Given the description of an element on the screen output the (x, y) to click on. 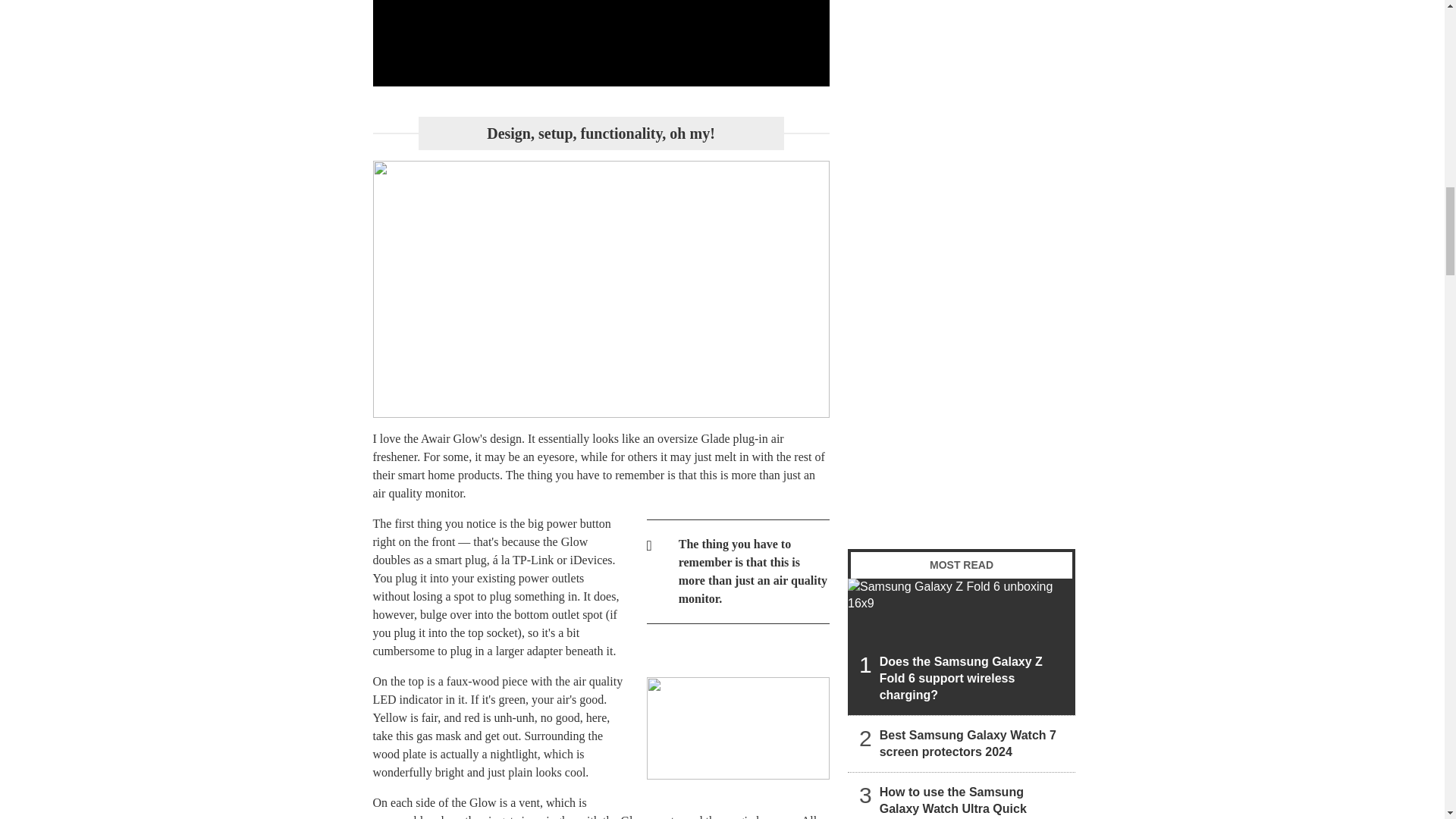
Does the Samsung Galaxy Z Fold 6 support wireless charging? (961, 646)
